Given the description of an element on the screen output the (x, y) to click on. 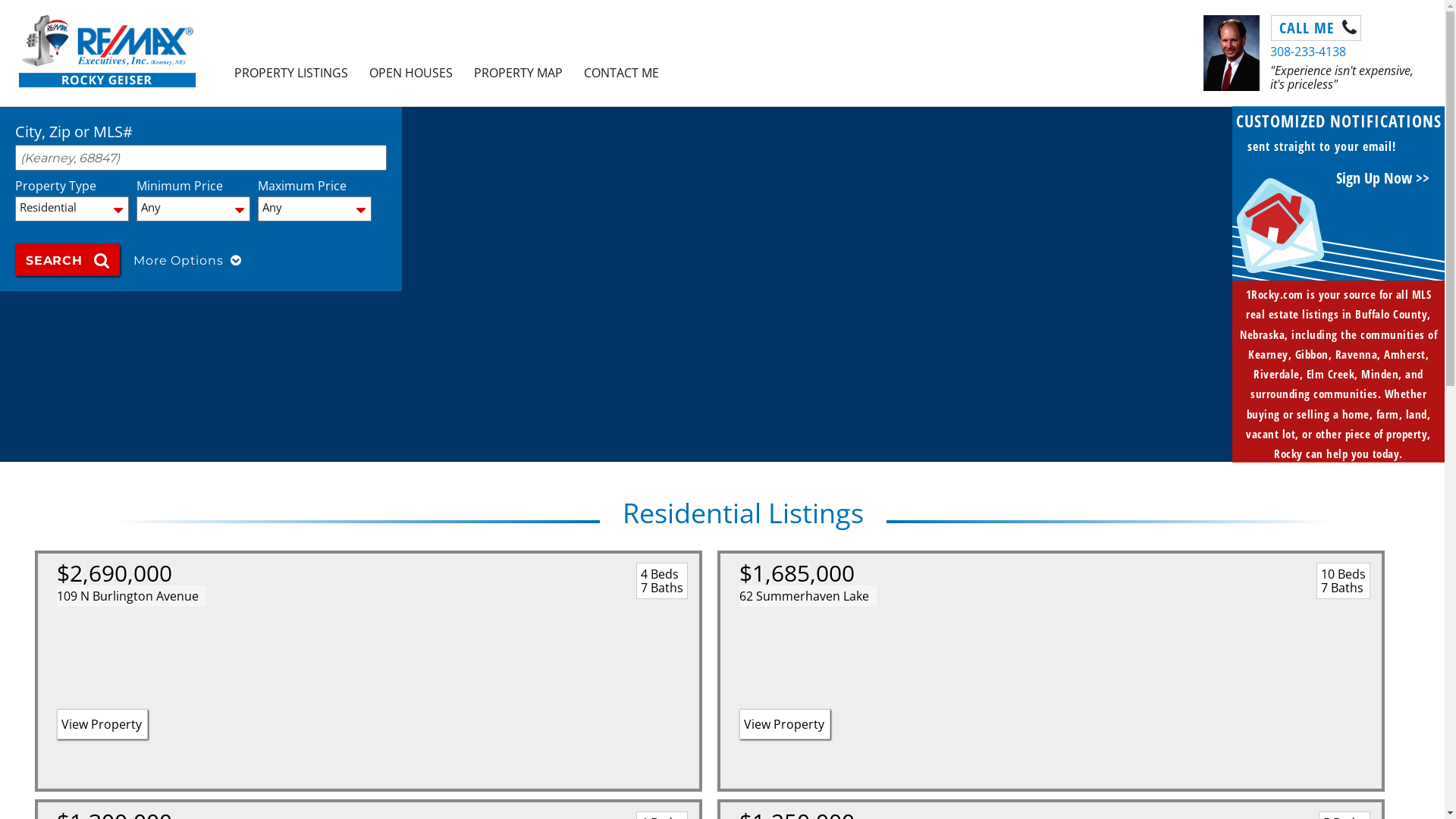
PROPERTY MAP Element type: text (518, 72)
View Property Element type: text (784, 724)
PROPERTY LISTINGS Element type: text (290, 72)
CALL ME Element type: text (1315, 27)
More Options Element type: text (185, 259)
Sign Up Now >> Element type: text (1382, 173)
OPEN HOUSES Element type: text (410, 72)
CONTACT ME Element type: text (621, 72)
SEARCH Element type: text (67, 260)
View Property Element type: text (101, 724)
